Given the description of an element on the screen output the (x, y) to click on. 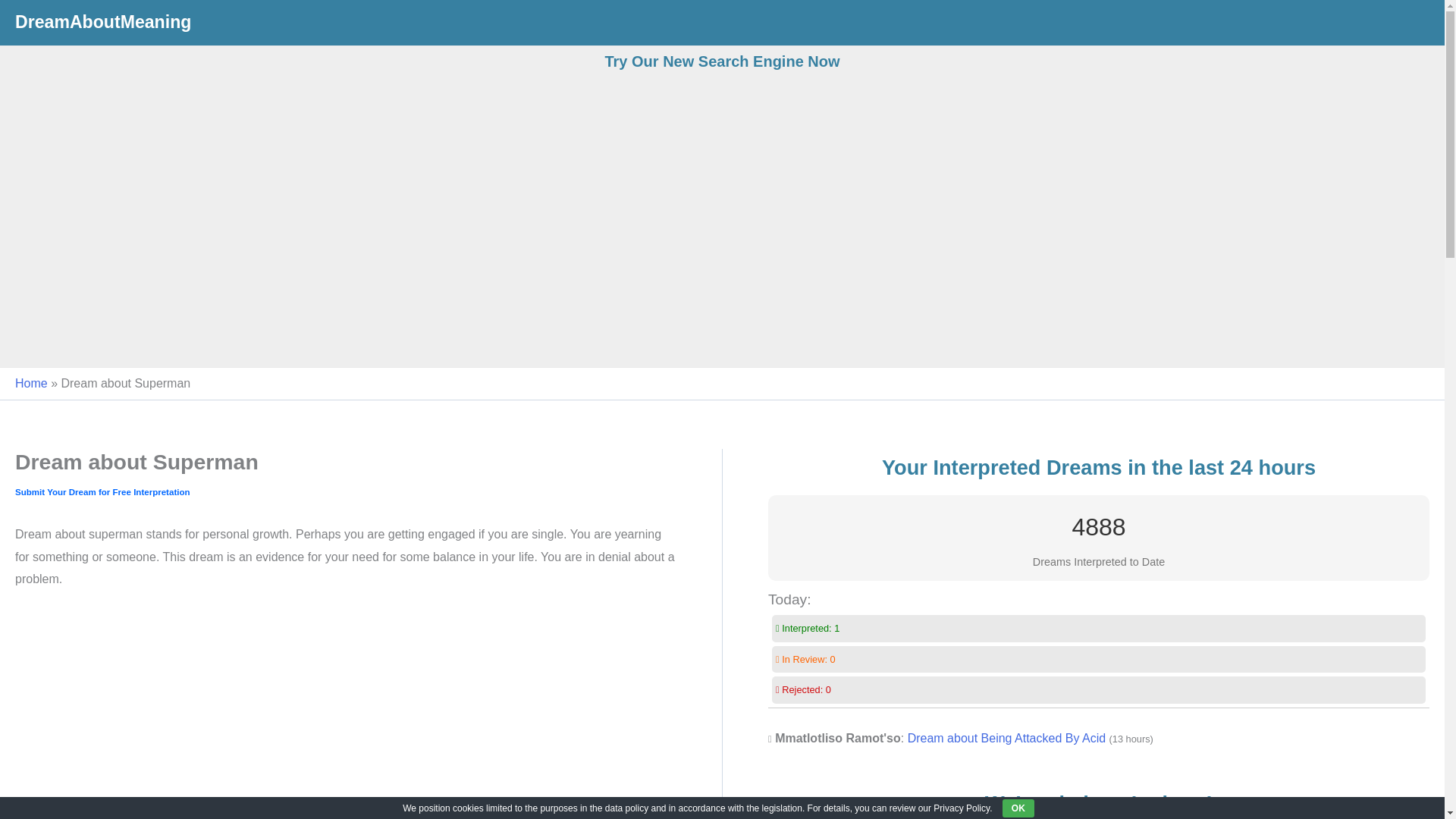
Submit Your Dream for Free Interpretation (102, 491)
DreamAboutMeaning (102, 21)
Home (31, 382)
Dream about Being Attacked By Acid (1006, 738)
Advertisement (344, 714)
OK (1018, 808)
